Given the description of an element on the screen output the (x, y) to click on. 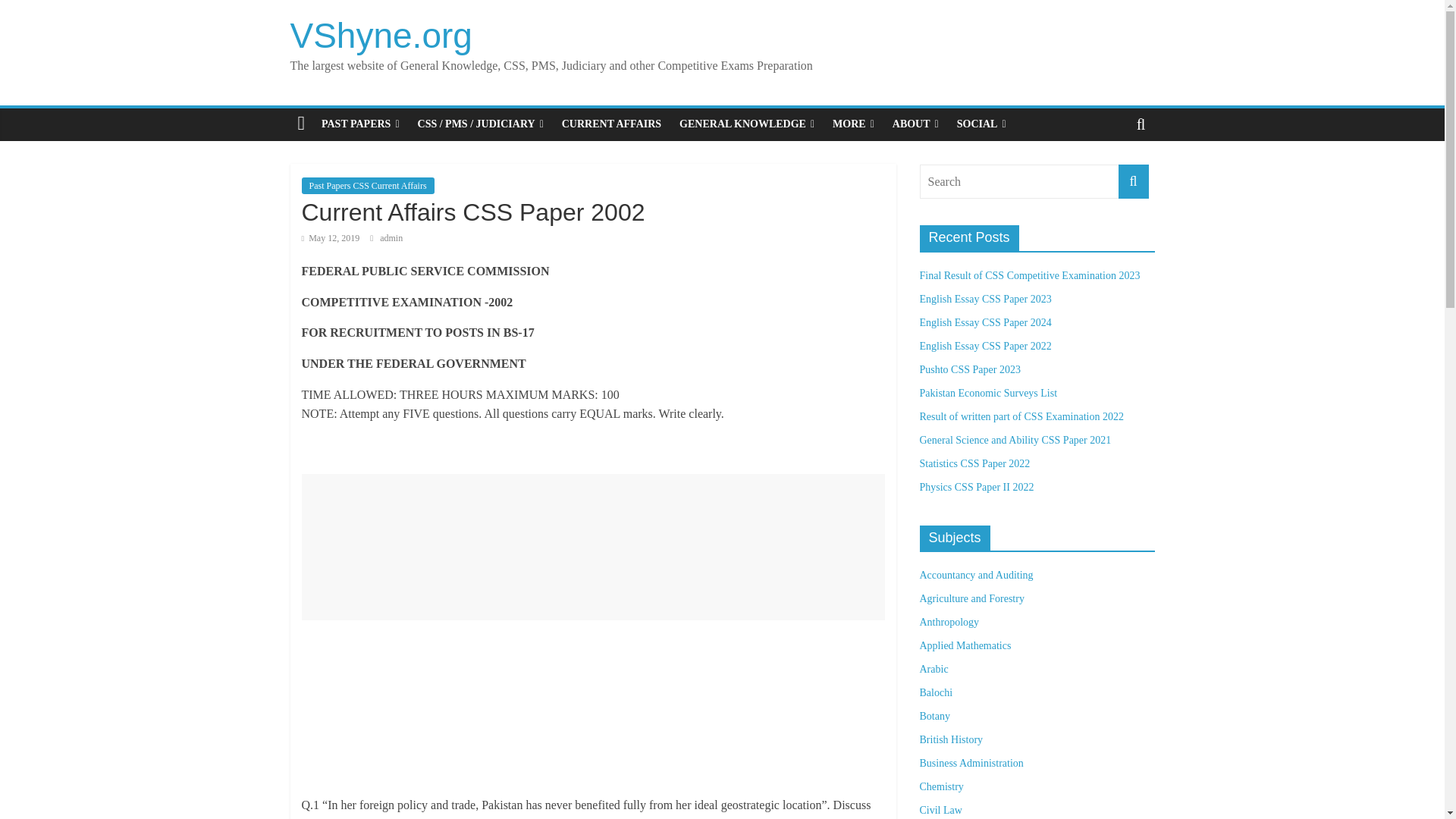
VShyne.org (380, 35)
VShyne.org (380, 35)
Final Result of CSS Competitive Examination 2023 (1029, 275)
GENERAL KNOWLEDGE (746, 124)
MORE (853, 124)
English Essay CSS Paper 2023 (984, 298)
admin (391, 237)
English Essay CSS Paper 2022 (984, 346)
CURRENT AFFAIRS (611, 124)
Past Papers CSS Current Affairs (367, 185)
